Given the description of an element on the screen output the (x, y) to click on. 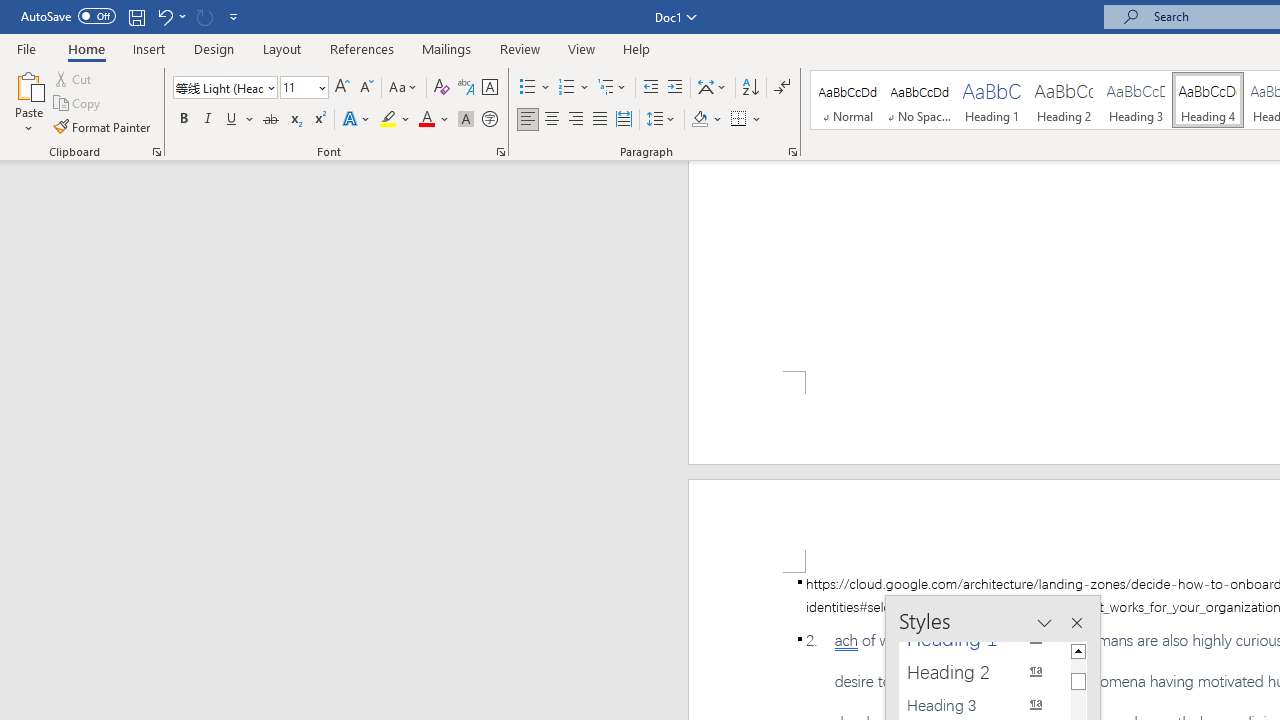
Numbering (566, 87)
View (582, 48)
Quick Access Toolbar (131, 16)
Text Highlight Color Yellow (388, 119)
Enclose Characters... (489, 119)
Superscript (319, 119)
Bullets (527, 87)
Character Shading (465, 119)
References (362, 48)
Paragraph... (792, 151)
Format Painter (103, 126)
System (10, 11)
Text Effects and Typography (357, 119)
Text Highlight Color (395, 119)
Class: NetUIImage (971, 672)
